Given the description of an element on the screen output the (x, y) to click on. 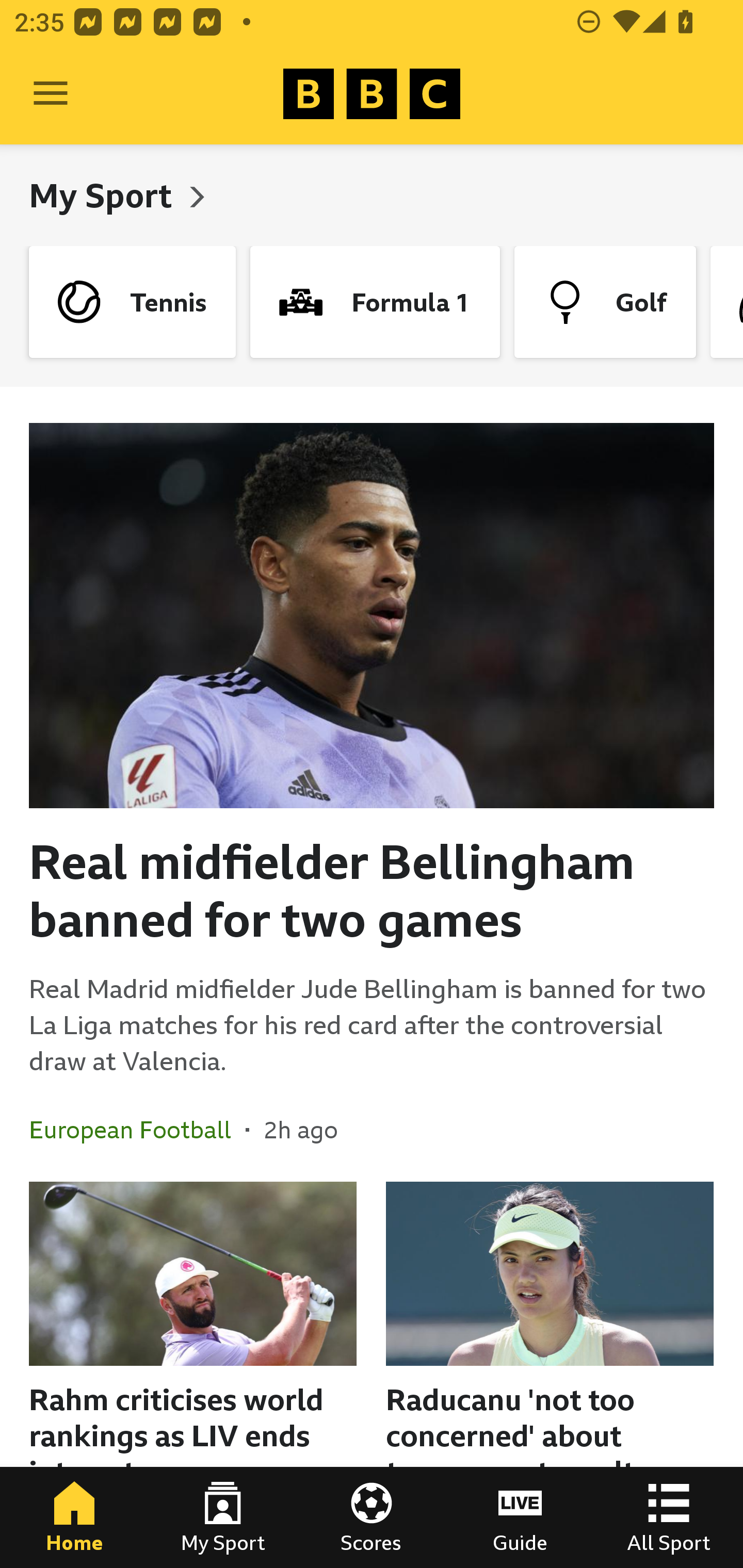
Open Menu (50, 93)
My Sport (104, 195)
European Football In the section European Football (136, 1129)
My Sport (222, 1517)
Scores (371, 1517)
Guide (519, 1517)
All Sport (668, 1517)
